Given the description of an element on the screen output the (x, y) to click on. 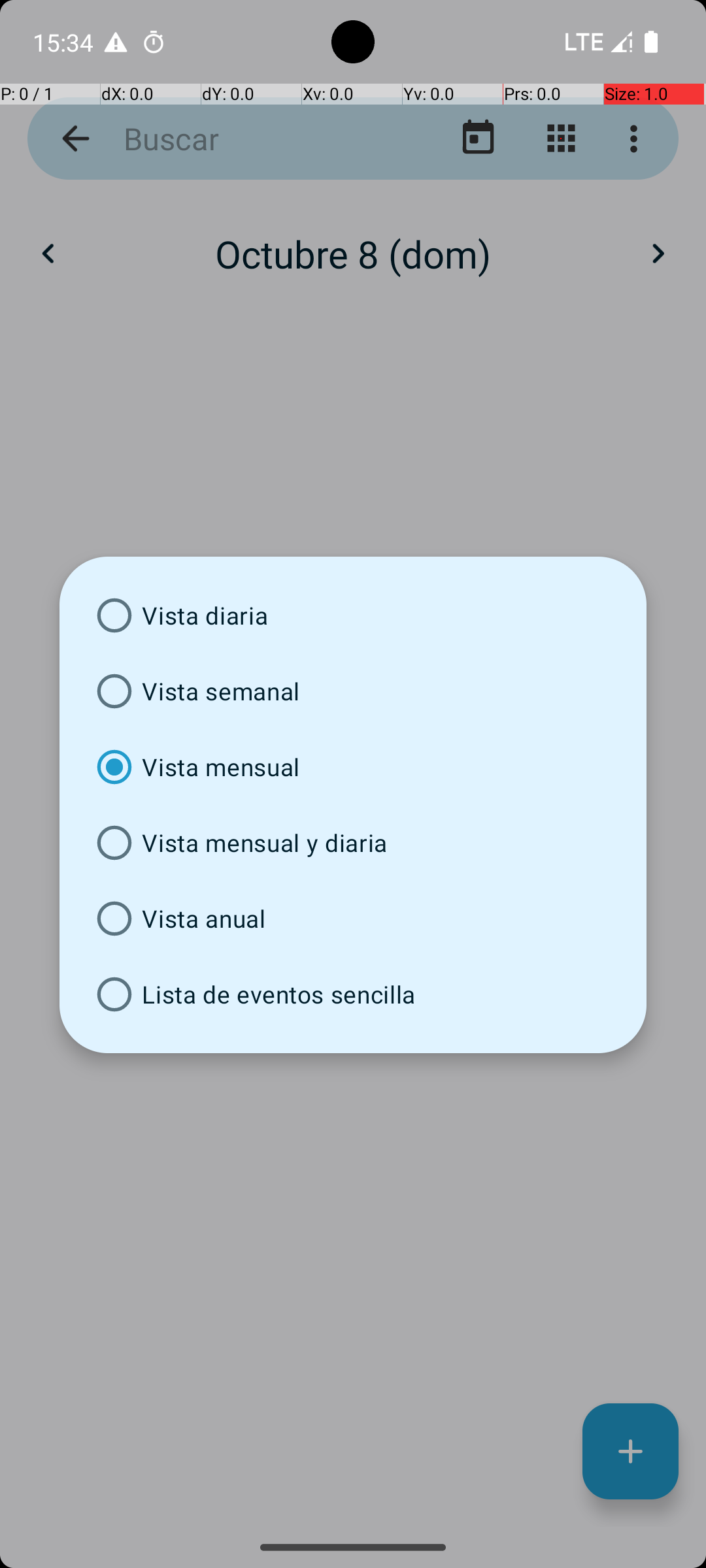
Vista diaria Element type: android.widget.RadioButton (352, 615)
Vista semanal Element type: android.widget.RadioButton (352, 691)
Vista mensual Element type: android.widget.RadioButton (352, 766)
Vista mensual y diaria Element type: android.widget.RadioButton (352, 842)
Vista anual Element type: android.widget.RadioButton (352, 918)
Lista de eventos sencilla Element type: android.widget.RadioButton (352, 994)
